Given the description of an element on the screen output the (x, y) to click on. 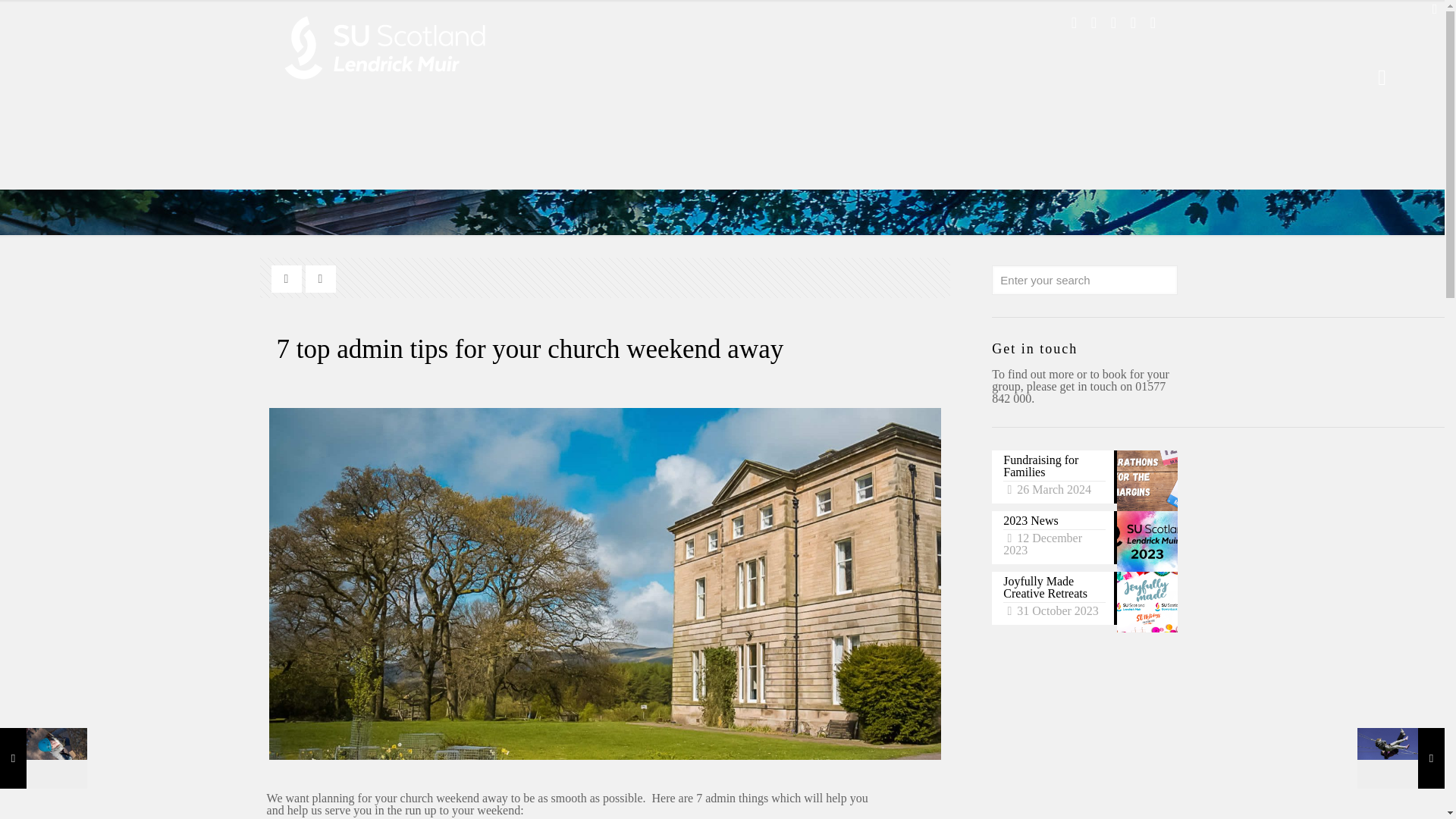
Instagram (1132, 22)
YouTube (1113, 22)
Lendrick Muir (383, 47)
Facebook (1073, 22)
RSS (1152, 22)
